Given the description of an element on the screen output the (x, y) to click on. 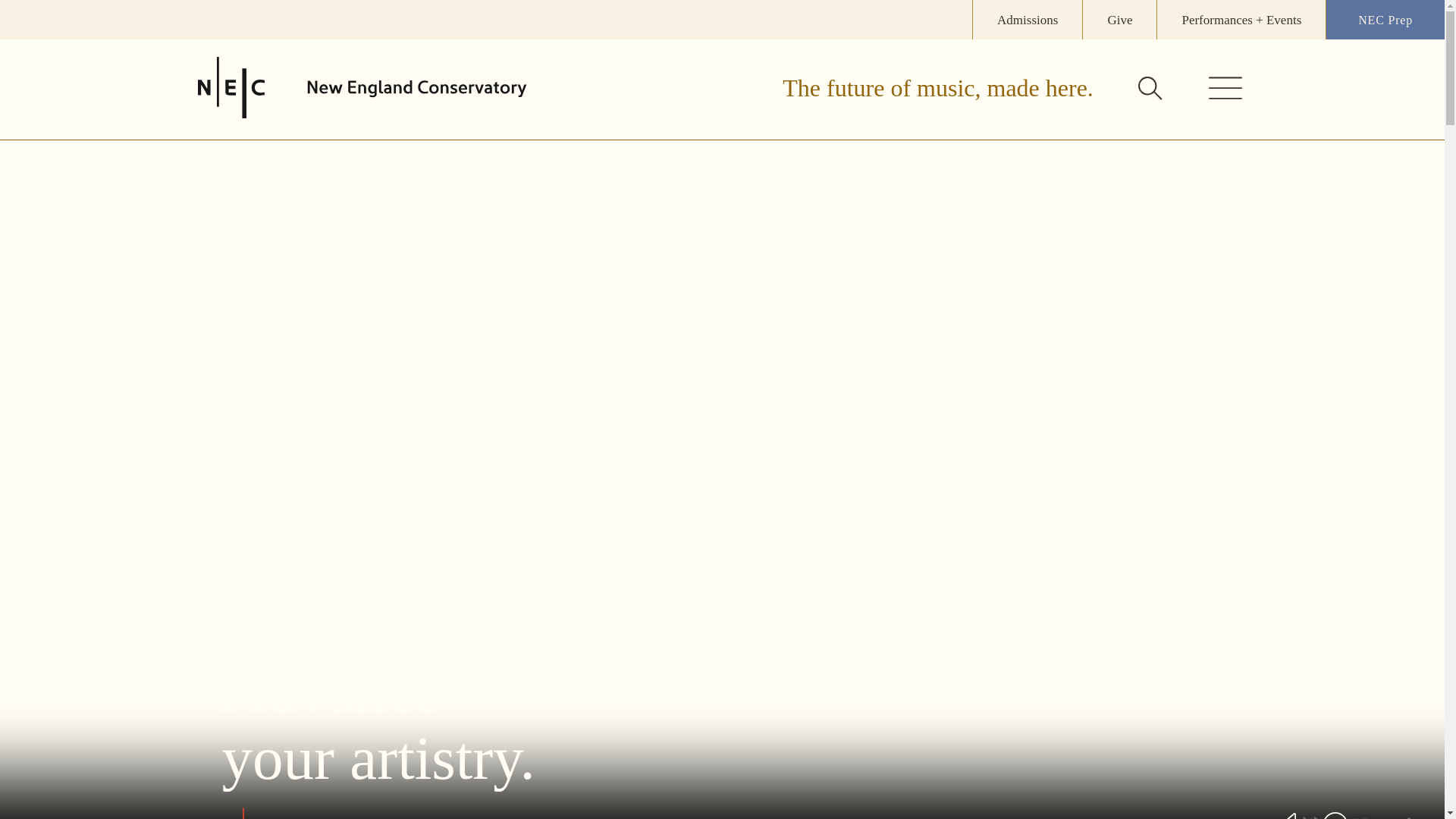
New England Conservatory (417, 88)
Search-Desktop (1150, 89)
Give (1119, 20)
Admissions (1027, 20)
NEC Prep (1384, 19)
